Given the description of an element on the screen output the (x, y) to click on. 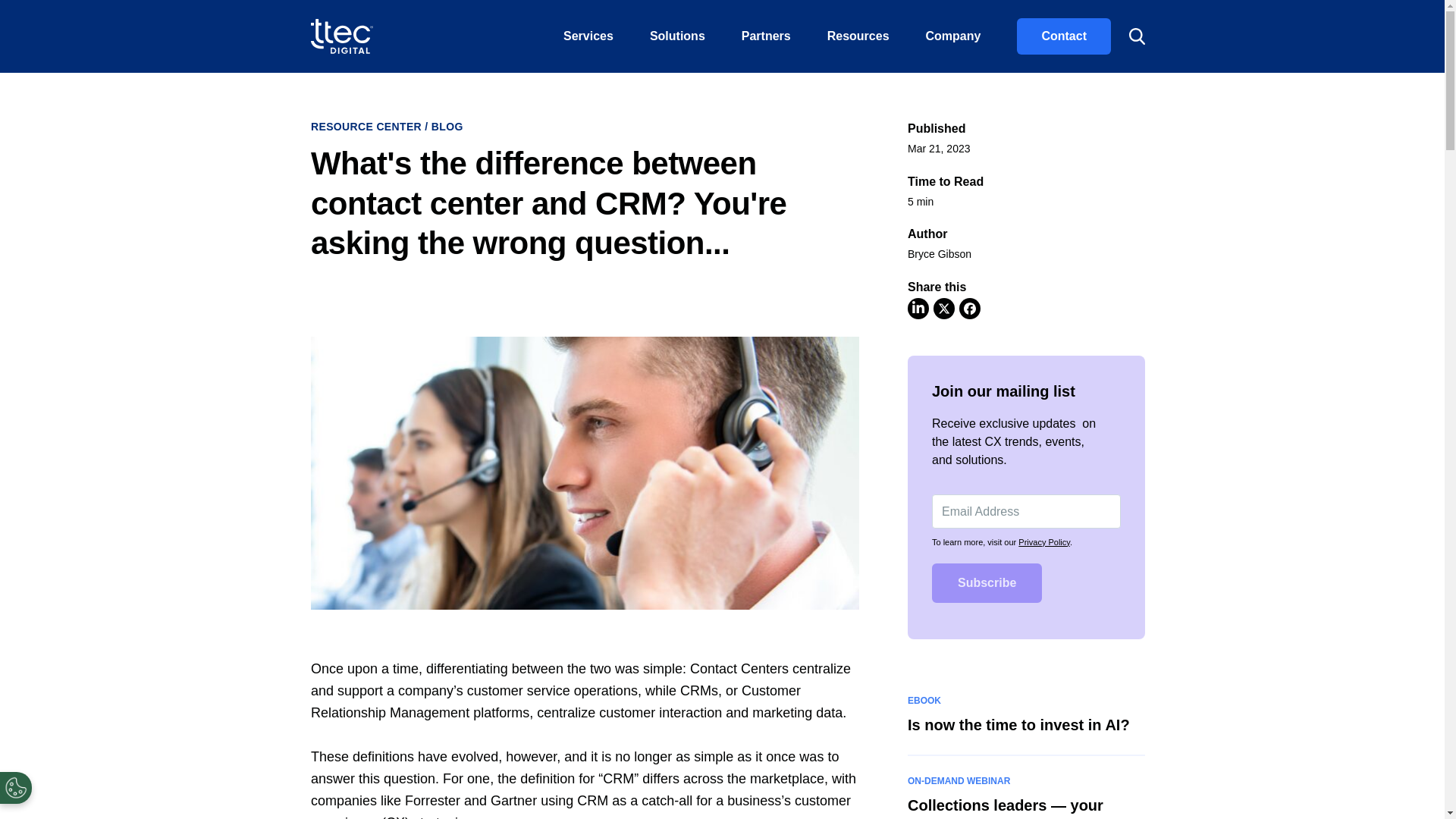
Services (587, 36)
Company (952, 36)
Partners (766, 36)
Solutions (677, 36)
Resources (858, 36)
Contact (1063, 36)
